Given the description of an element on the screen output the (x, y) to click on. 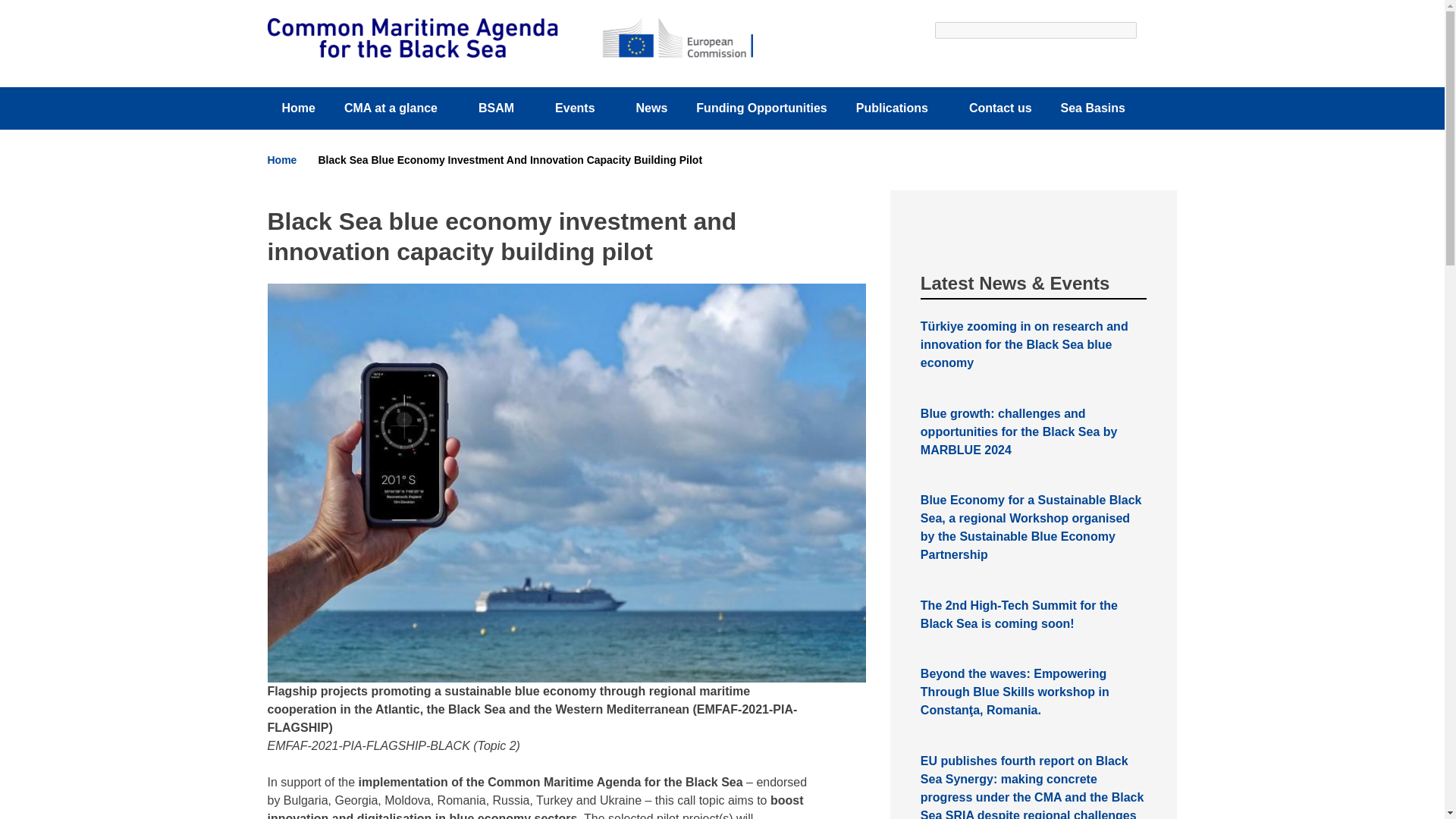
Search (955, 60)
News (651, 107)
Home (281, 159)
Contact us (1000, 107)
Funding Opportunities (761, 107)
Search (955, 60)
Common Maritime Agenda for the Black Sea (509, 37)
